Given the description of an element on the screen output the (x, y) to click on. 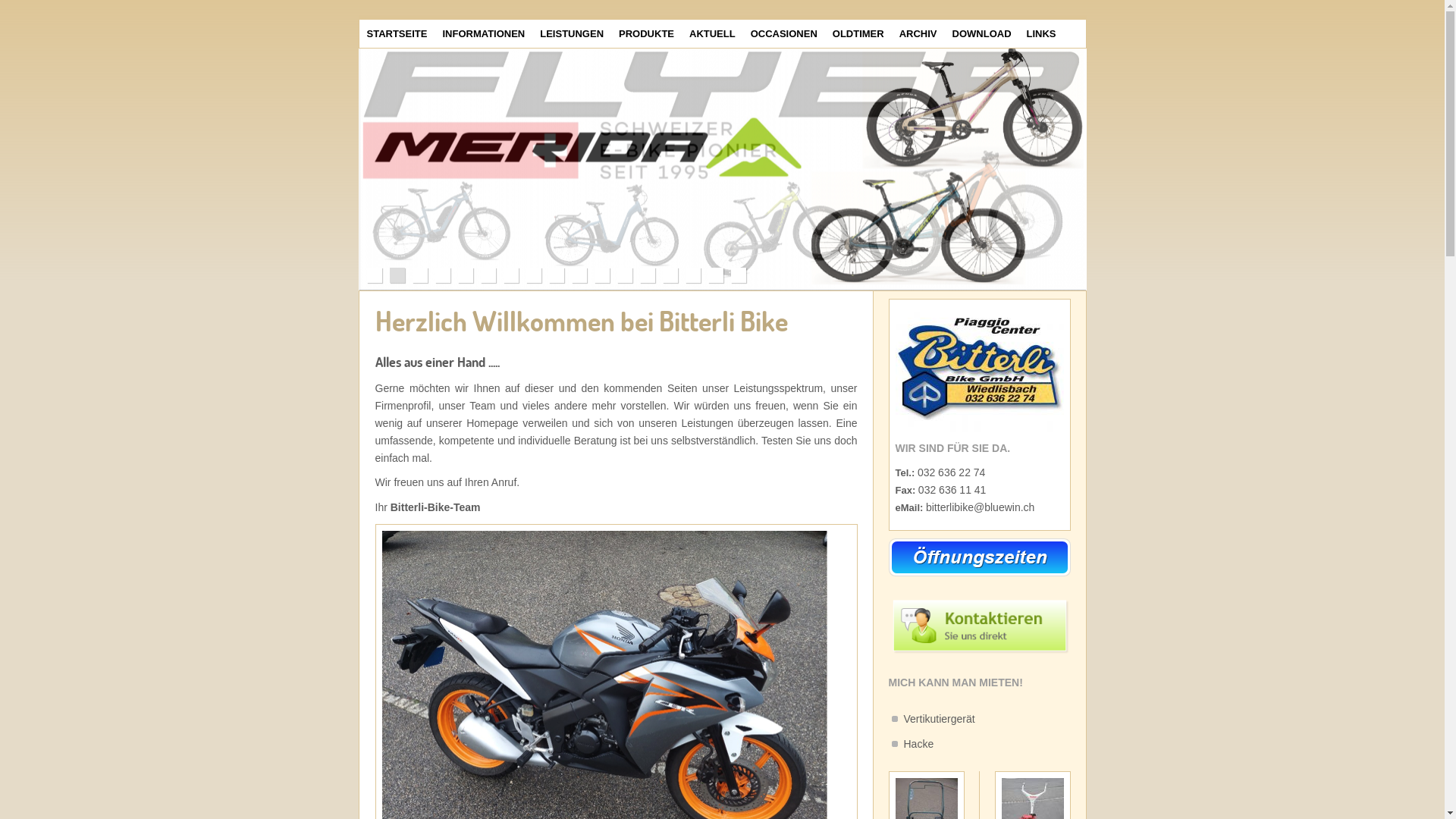
PRODUKTE Element type: text (646, 33)
DOWNLOAD Element type: text (981, 33)
LINKS Element type: text (1041, 33)
INFORMATIONEN Element type: text (483, 33)
OCCASIONEN Element type: text (784, 33)
STARTSEITE Element type: text (397, 33)
OLDTIMER Element type: text (858, 33)
LEISTUNGEN Element type: text (571, 33)
ARCHIV Element type: text (917, 33)
AKTUELL Element type: text (712, 33)
